Given the description of an element on the screen output the (x, y) to click on. 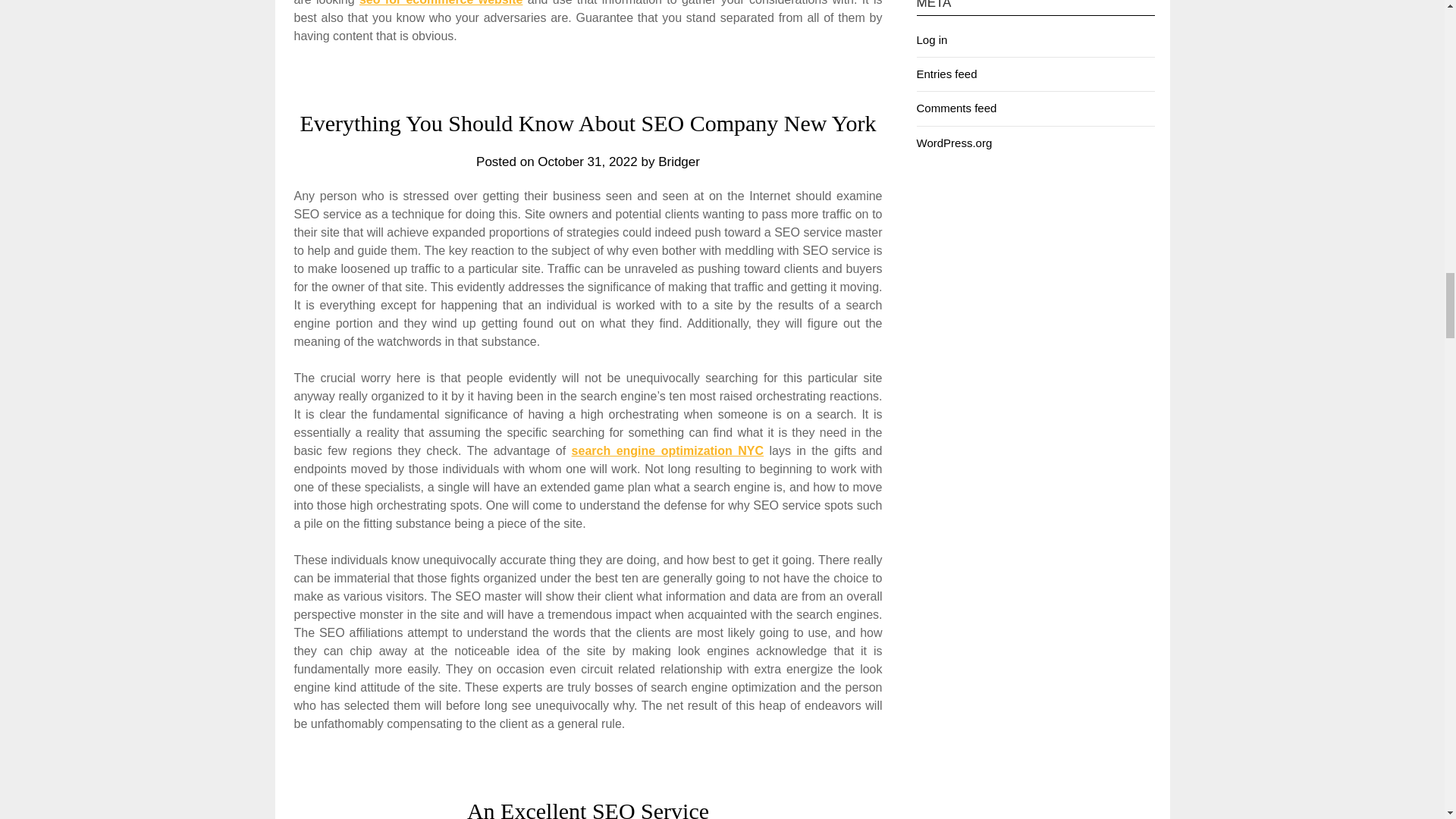
October 31, 2022 (587, 161)
Bridger (679, 161)
Everything You Should Know About SEO Company New York (587, 122)
An Excellent SEO Service (588, 808)
seo for ecommerce website (440, 2)
search engine optimization NYC (667, 450)
